Given the description of an element on the screen output the (x, y) to click on. 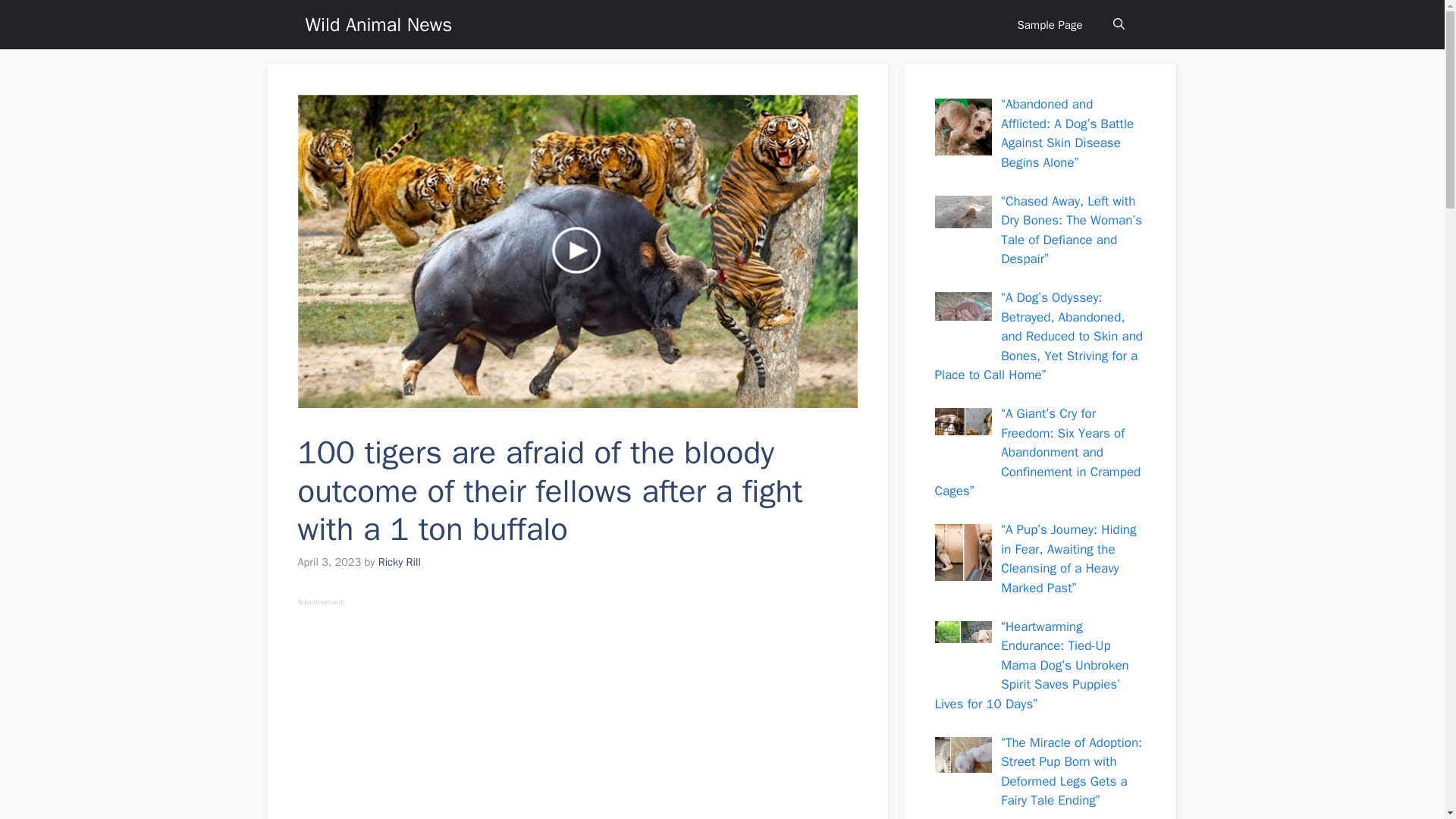
Ricky Rill (399, 561)
Wild Animal News (377, 24)
Sample Page (1050, 23)
View all posts by Ricky Rill (399, 561)
